Given the description of an element on the screen output the (x, y) to click on. 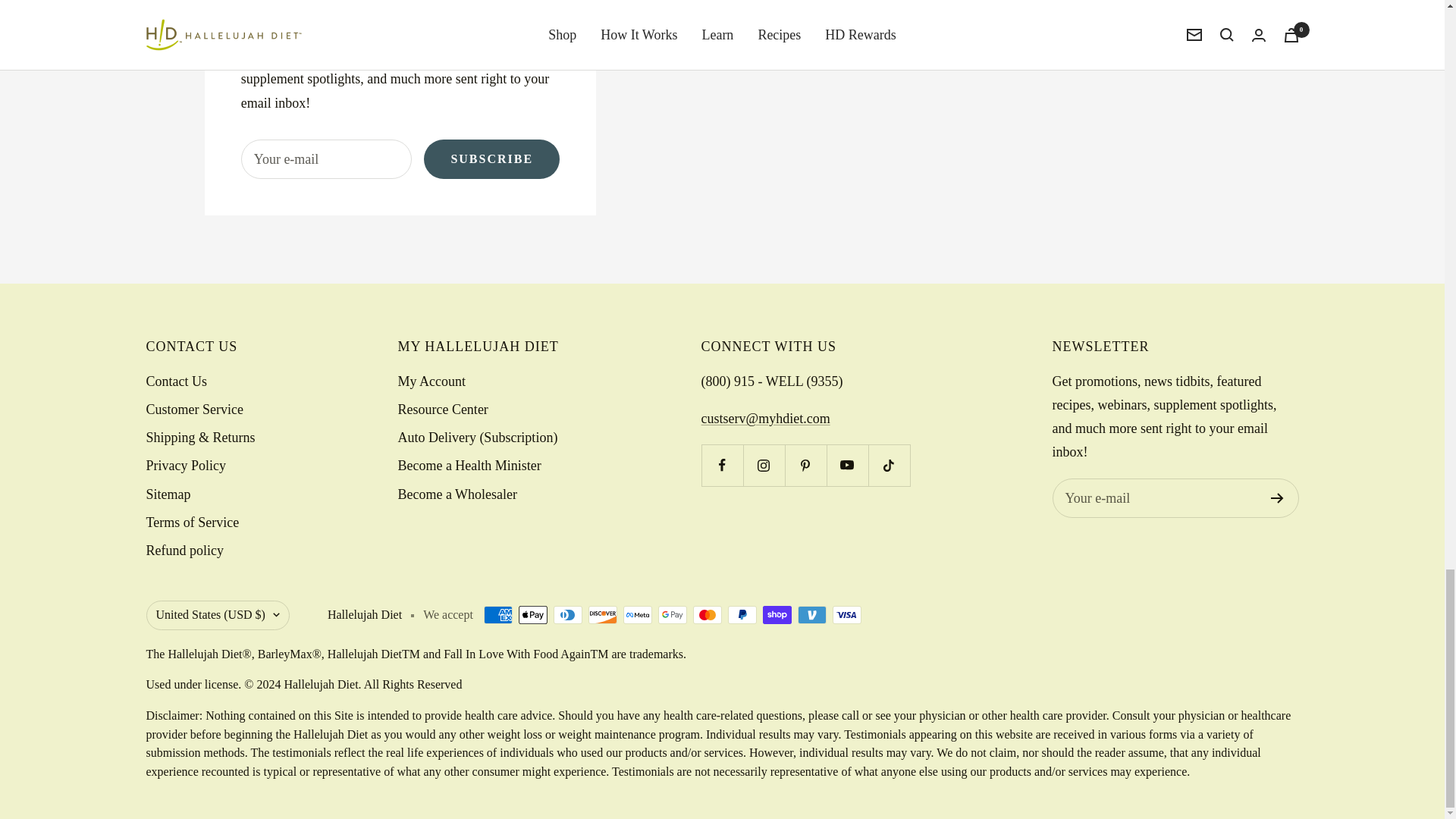
Register (1277, 498)
